Given the description of an element on the screen output the (x, y) to click on. 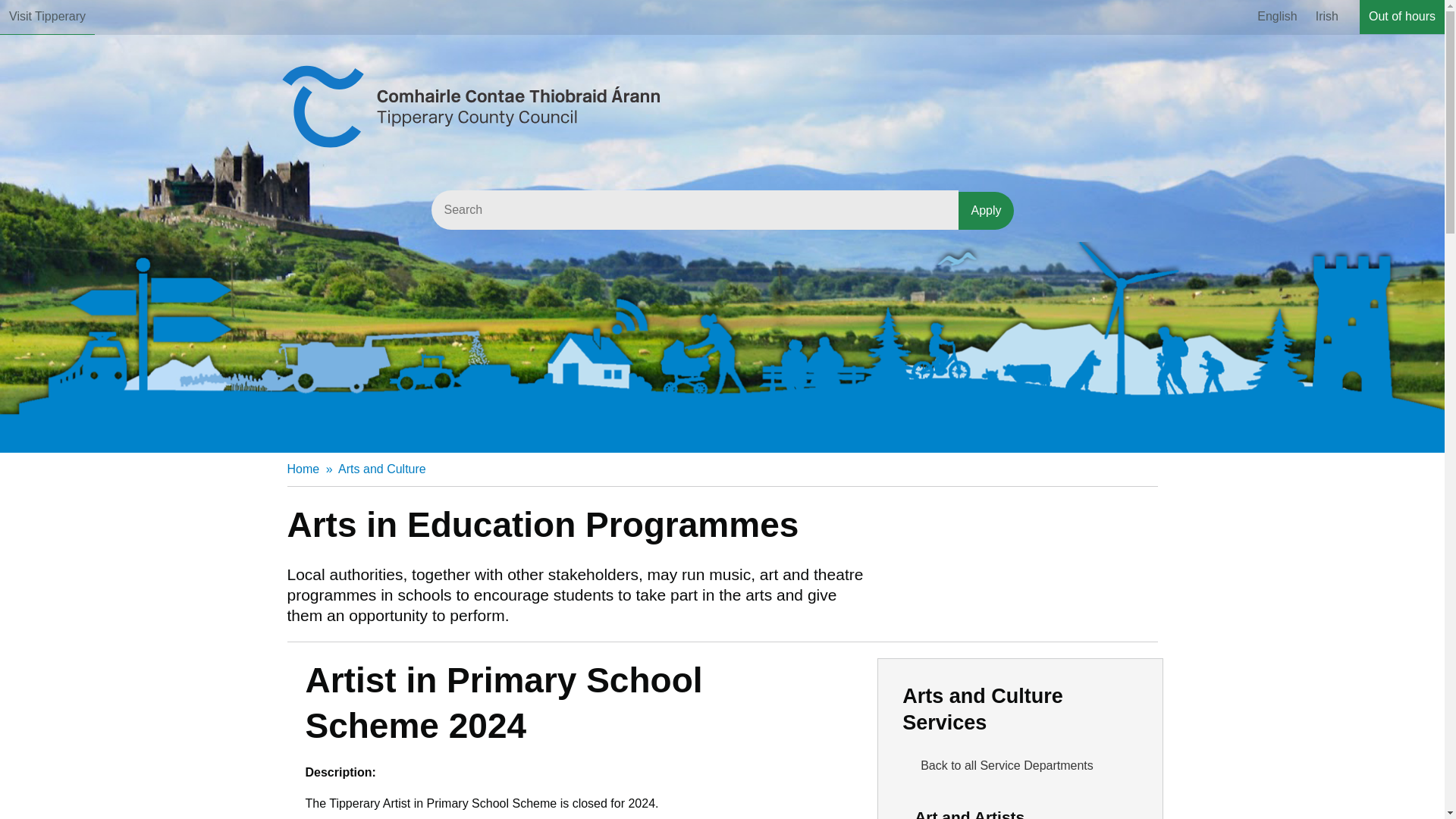
Skip to main content (12, 12)
Irish (1327, 17)
Apply (985, 210)
English (1276, 17)
Visit Tipperary (47, 17)
Home (302, 468)
Back to all Service Departments (1019, 766)
Arts and Culture (381, 468)
Apply (985, 210)
